Given the description of an element on the screen output the (x, y) to click on. 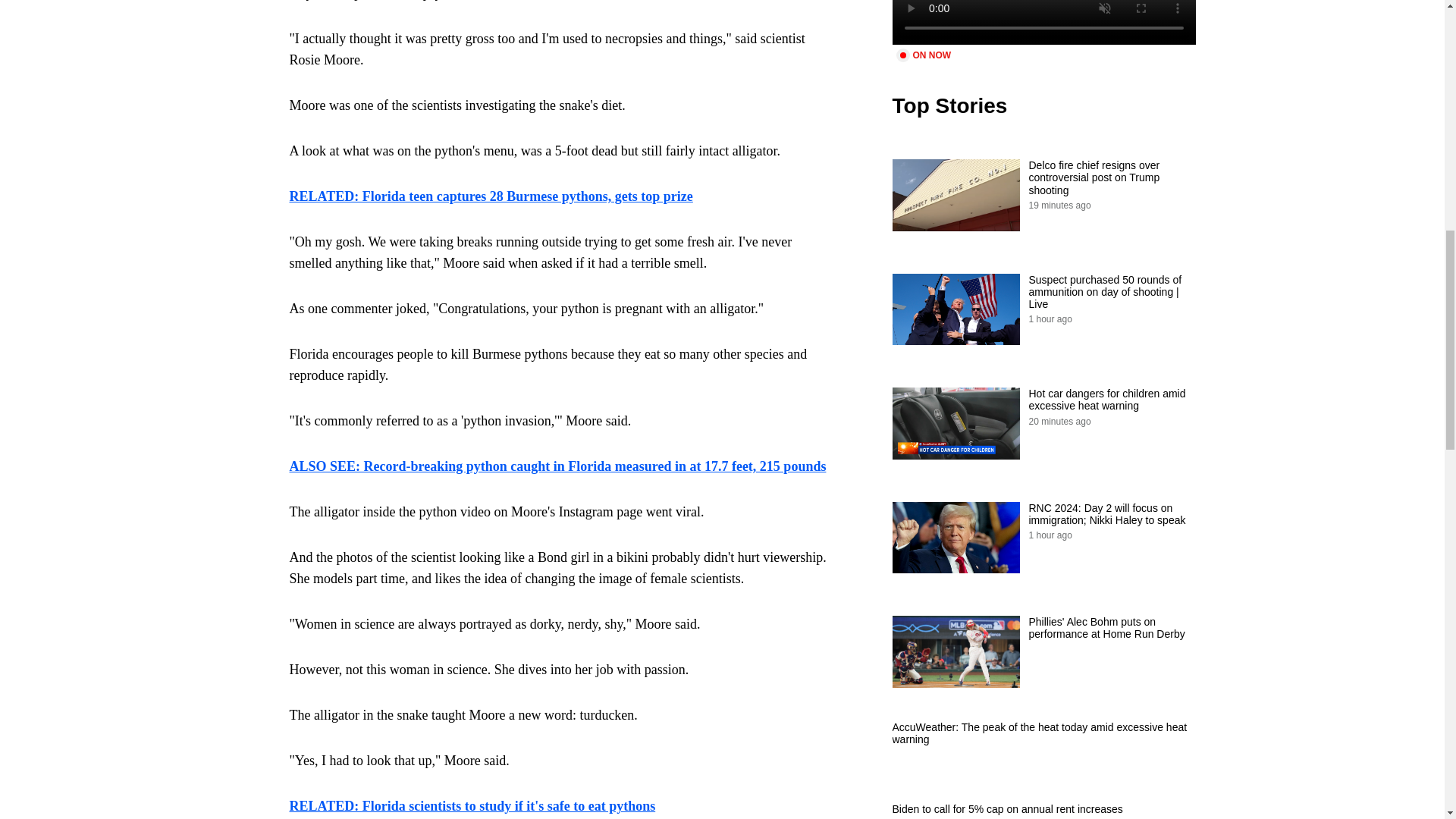
video.title (1043, 22)
